Given the description of an element on the screen output the (x, y) to click on. 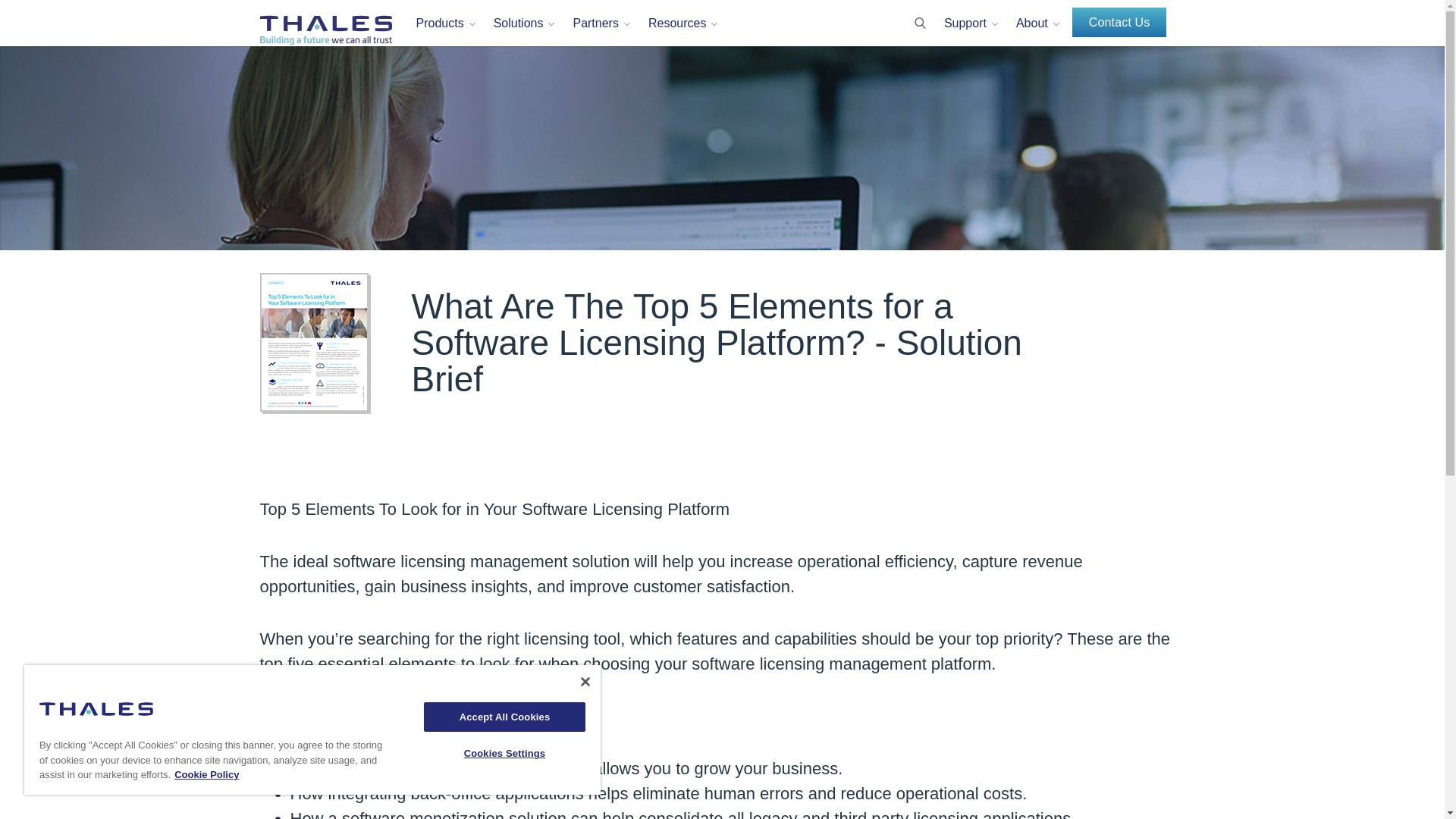
Products (439, 30)
